Given the description of an element on the screen output the (x, y) to click on. 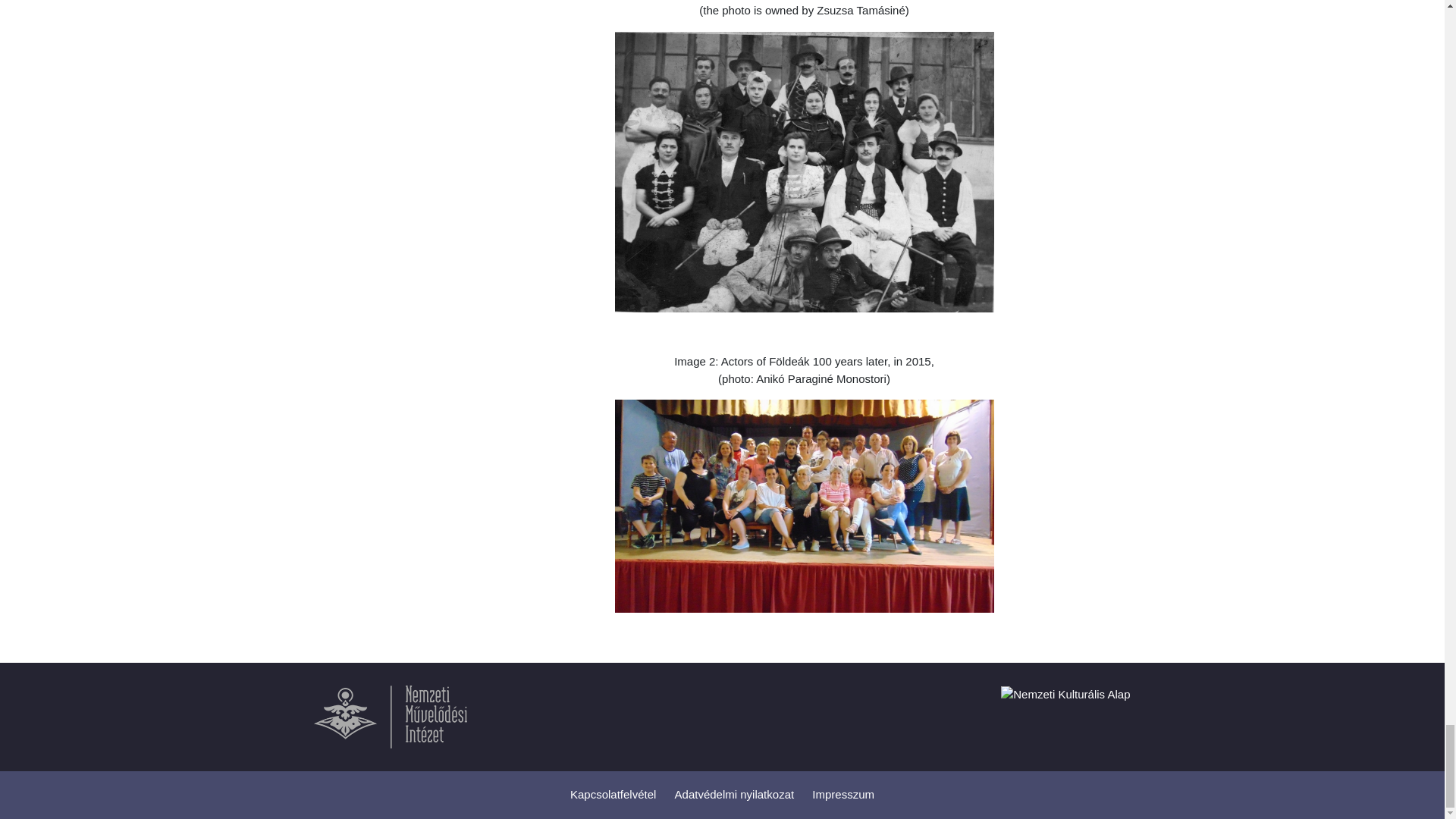
Impresszum (843, 795)
